Given the description of an element on the screen output the (x, y) to click on. 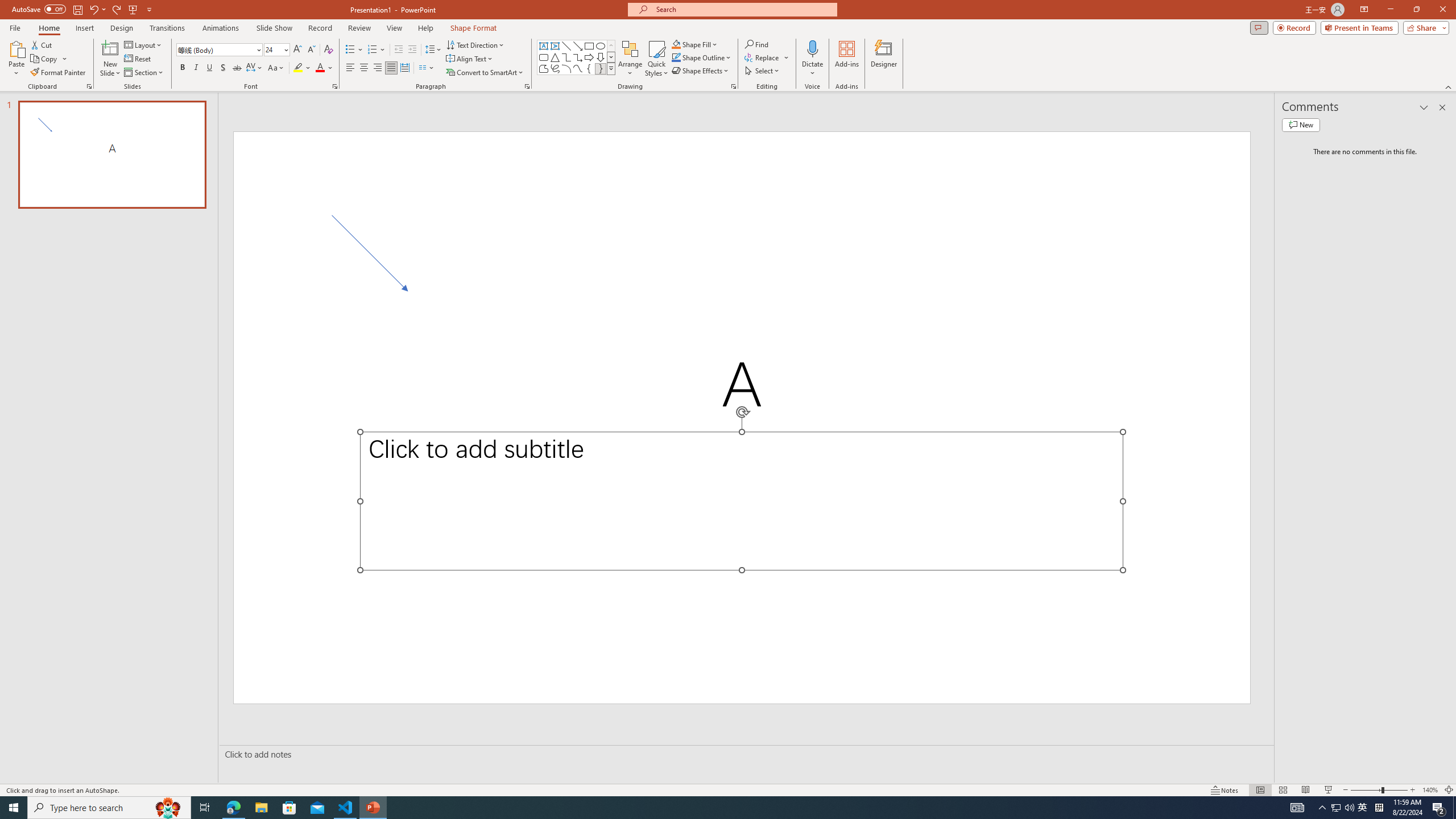
Line Arrow (577, 45)
Strikethrough (237, 67)
Text Highlight Color (302, 67)
Rectangle (589, 45)
Format Object... (733, 85)
Select (762, 69)
Curve (577, 68)
Justify (390, 67)
Align Right (377, 67)
